Given the description of an element on the screen output the (x, y) to click on. 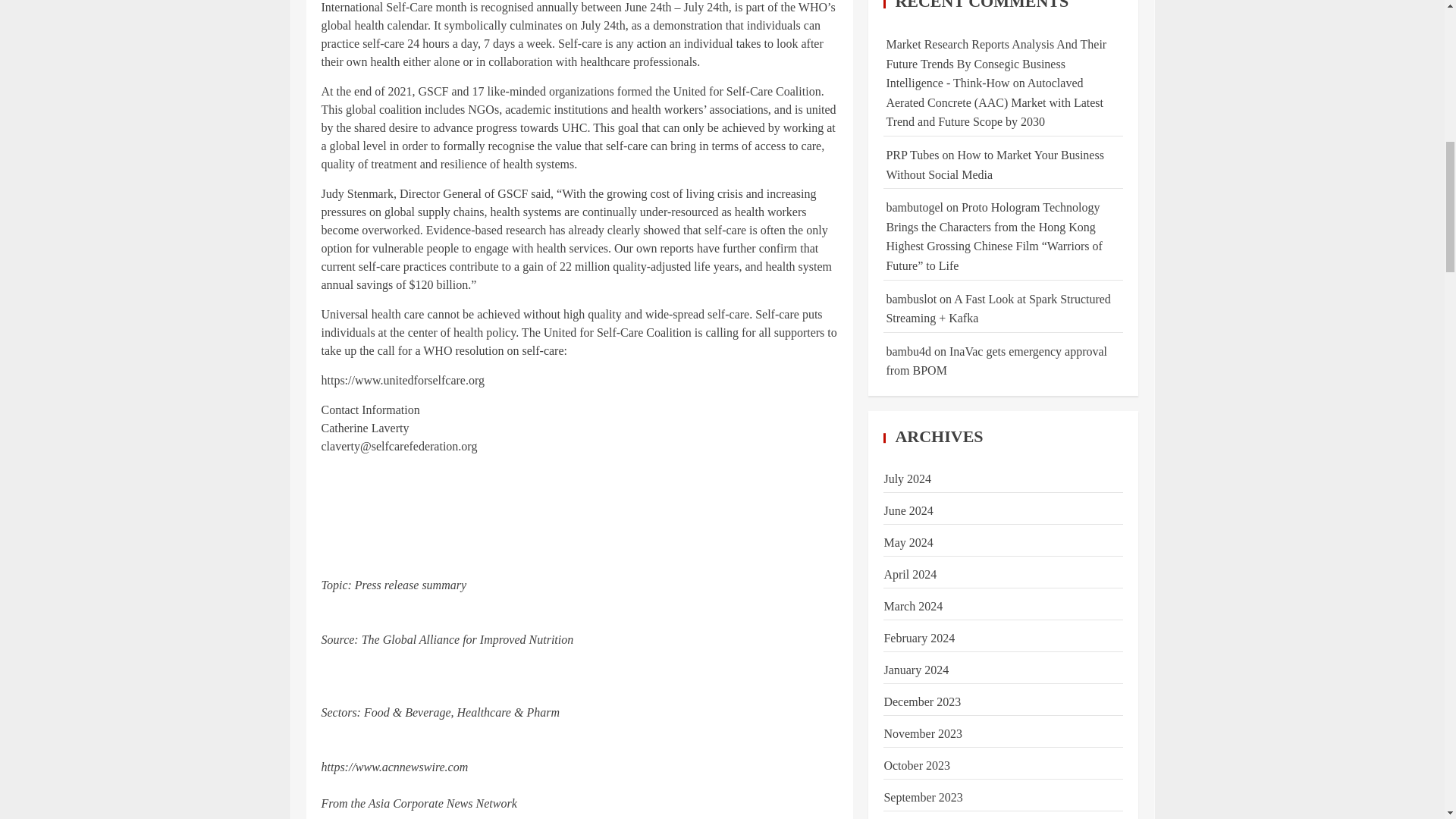
The Global Alliance for Improved Nutrition (467, 639)
